Given the description of an element on the screen output the (x, y) to click on. 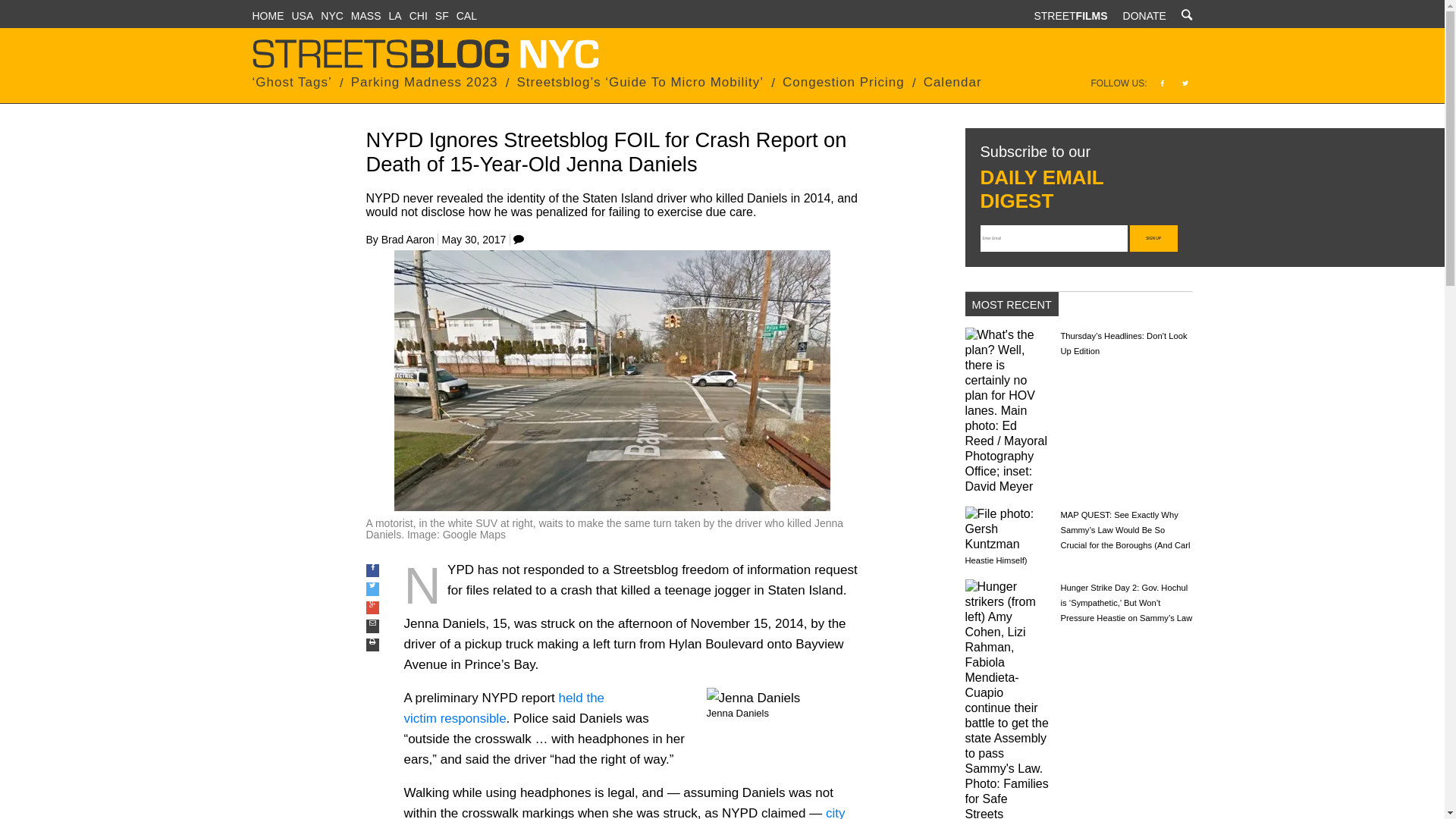
SF (441, 15)
LA (394, 15)
Calendar (952, 82)
NYC (331, 15)
STREETFILMS (1069, 15)
CHI (418, 15)
USA (302, 15)
Google Maps (473, 534)
Congestion Pricing (843, 82)
HOME (267, 15)
